Given the description of an element on the screen output the (x, y) to click on. 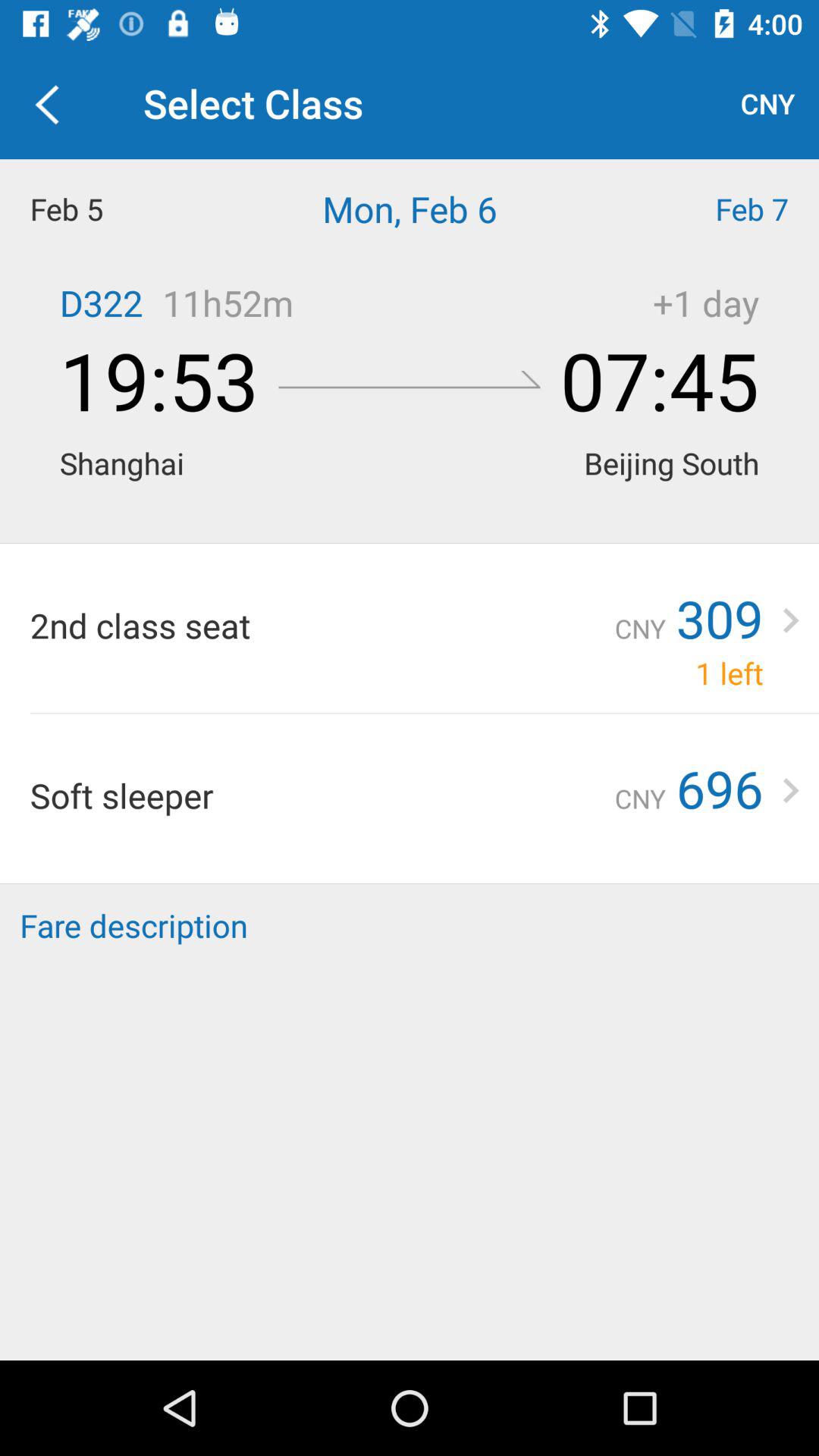
turn off item to the right of cny (719, 787)
